Given the description of an element on the screen output the (x, y) to click on. 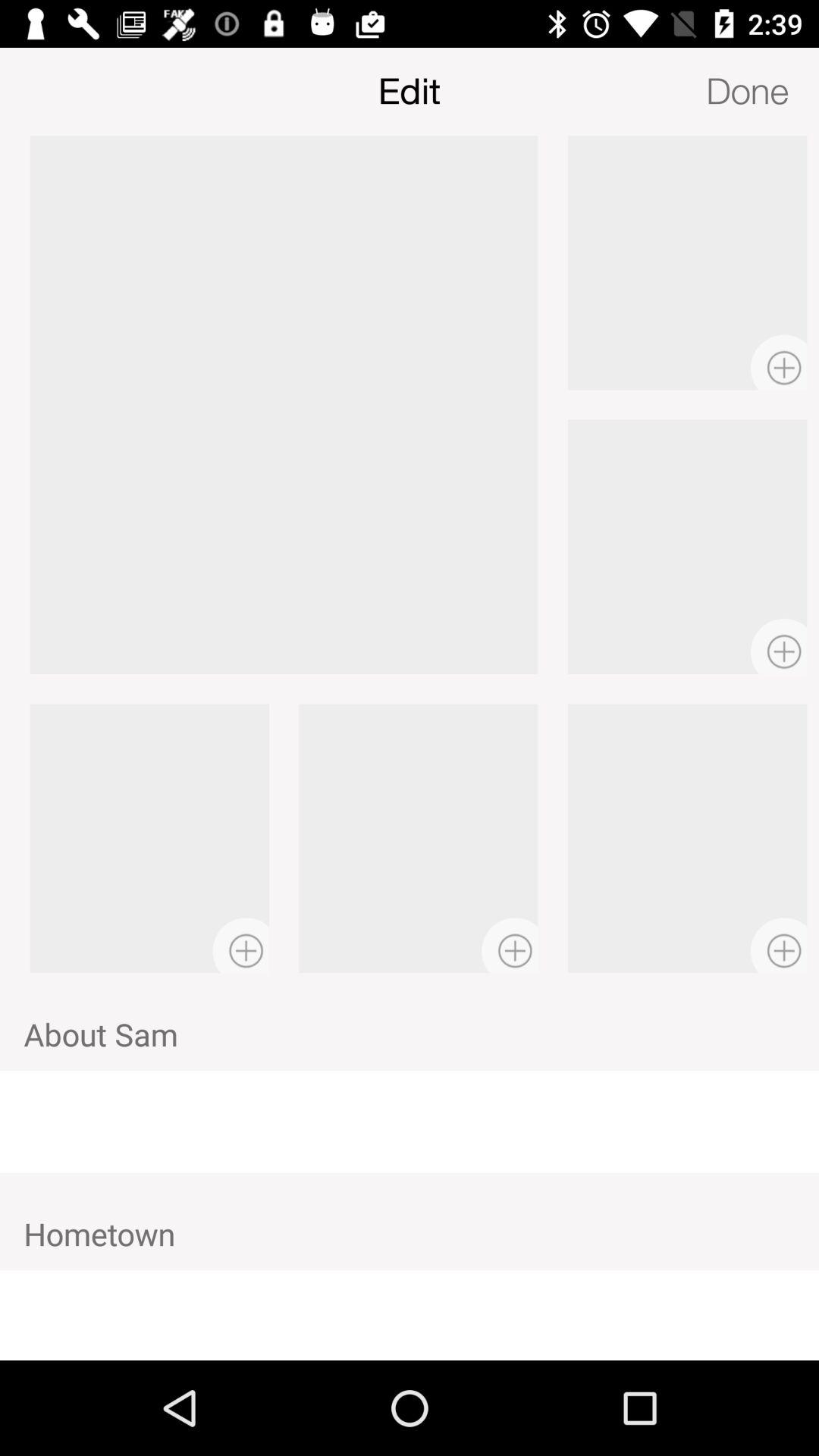
click on the icon from the left bottom above about sam (240, 944)
